Given the description of an element on the screen output the (x, y) to click on. 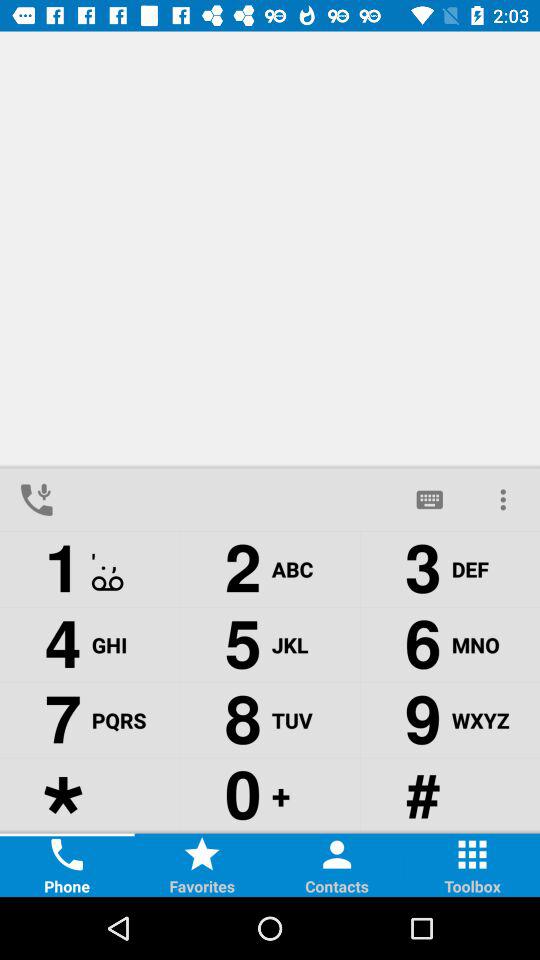
phone number input (233, 499)
